Given the description of an element on the screen output the (x, y) to click on. 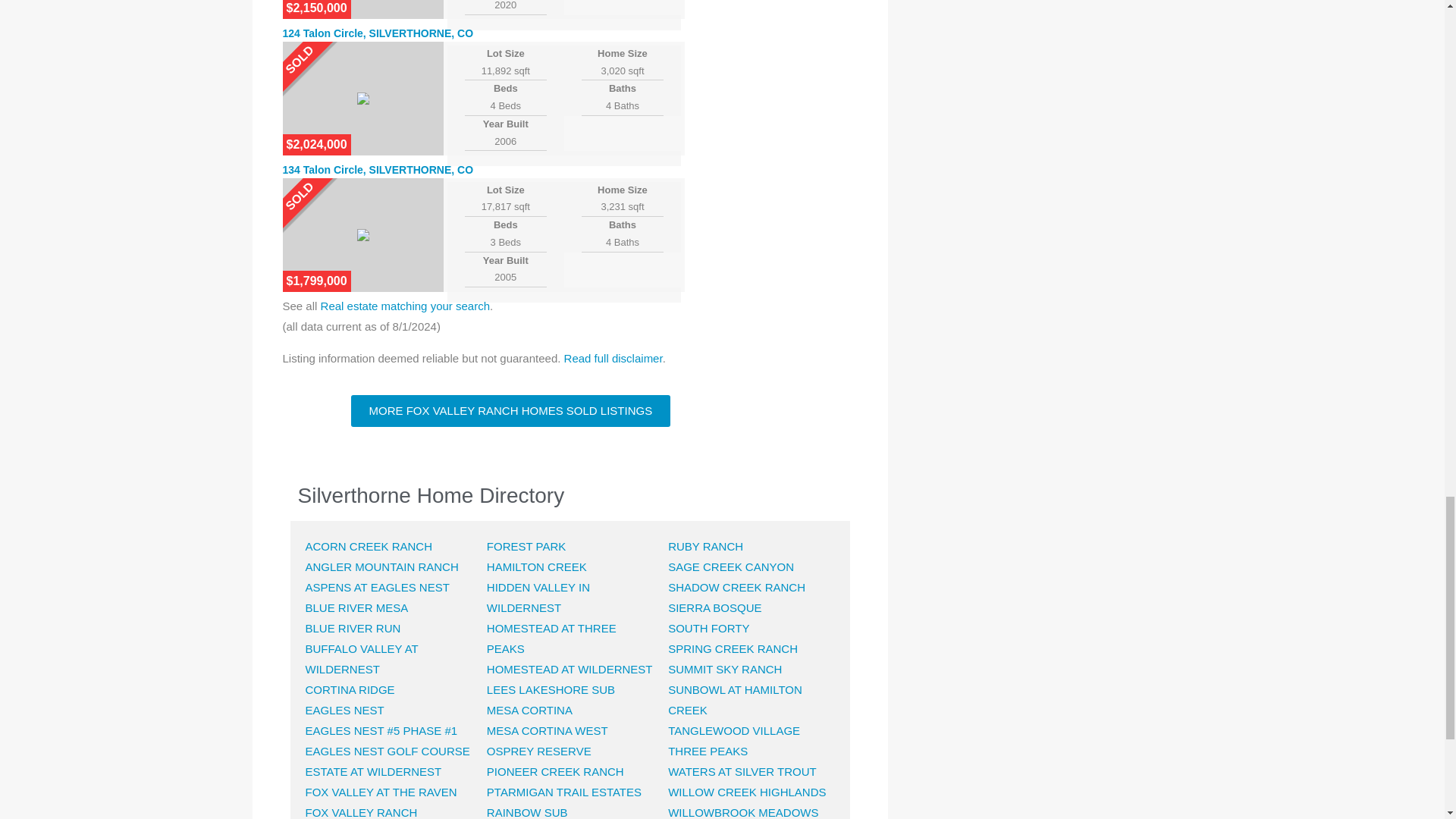
124 Talon Circle, SILVERTHORNE, CO (377, 33)
